Given the description of an element on the screen output the (x, y) to click on. 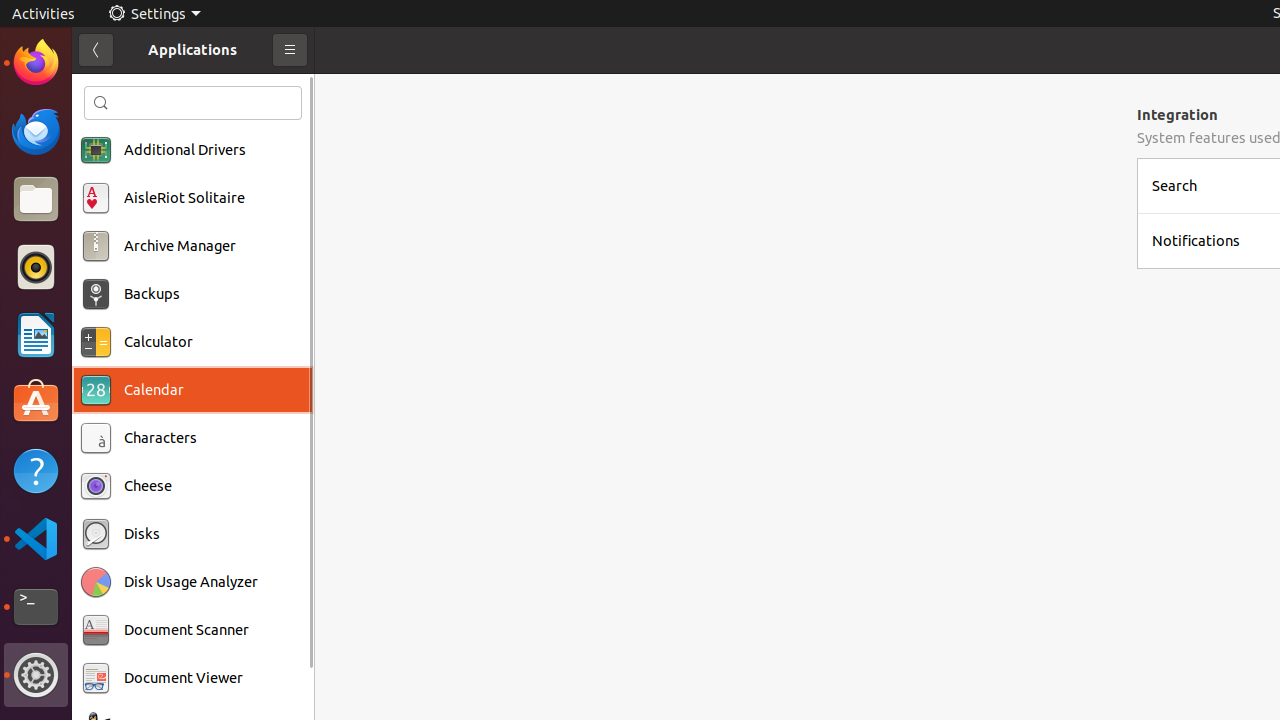
Characters Element type: label (160, 438)
Backups Element type: label (152, 294)
luyi1 Element type: label (133, 89)
Applications Element type: label (192, 49)
